Given the description of an element on the screen output the (x, y) to click on. 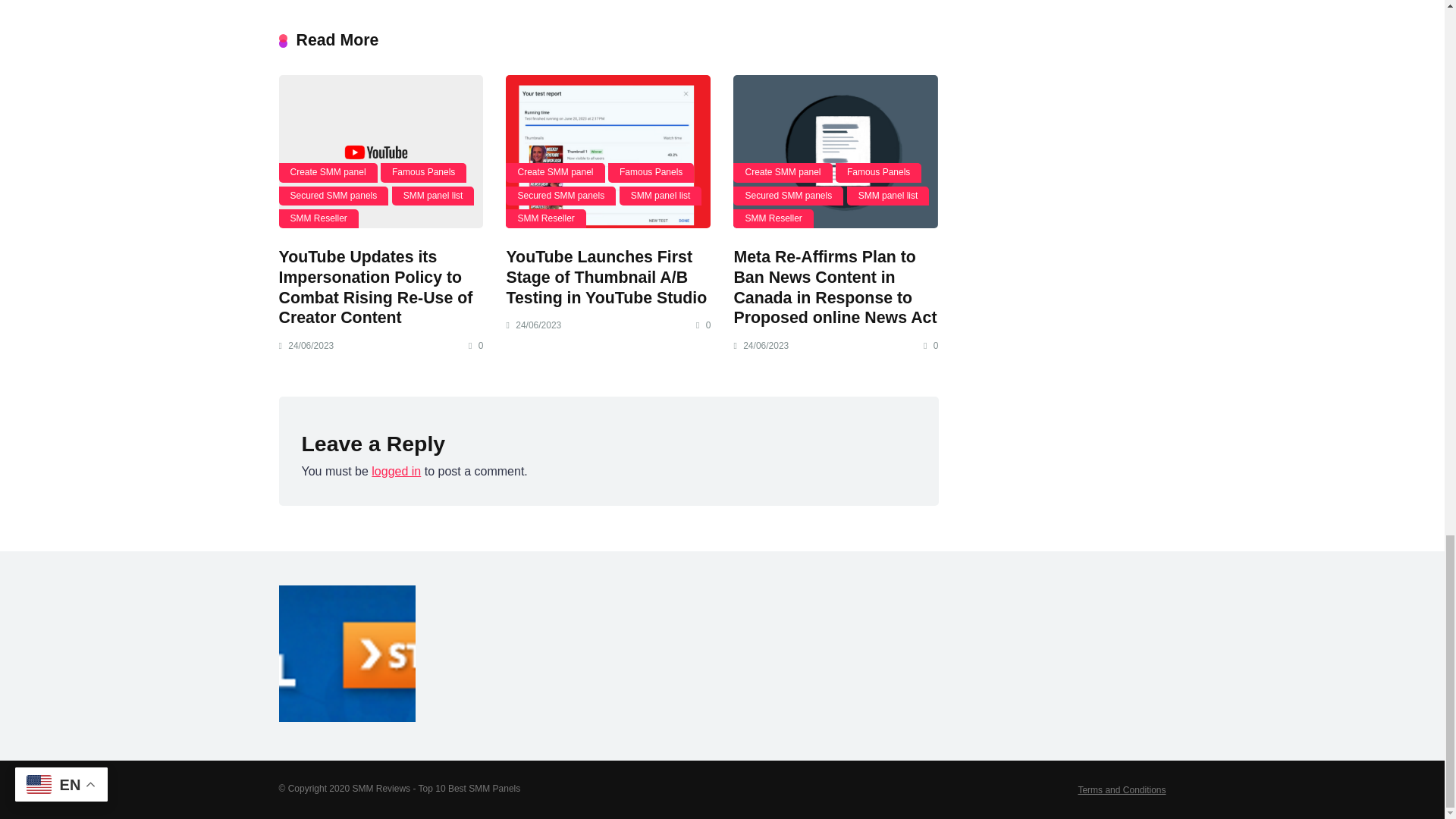
Famous Panels (651, 171)
Create SMM panel (554, 171)
SMM panel list (432, 195)
Create SMM panel (328, 171)
Secured SMM panels (333, 195)
SMM Reseller (318, 218)
Famous Panels (422, 171)
